Given the description of an element on the screen output the (x, y) to click on. 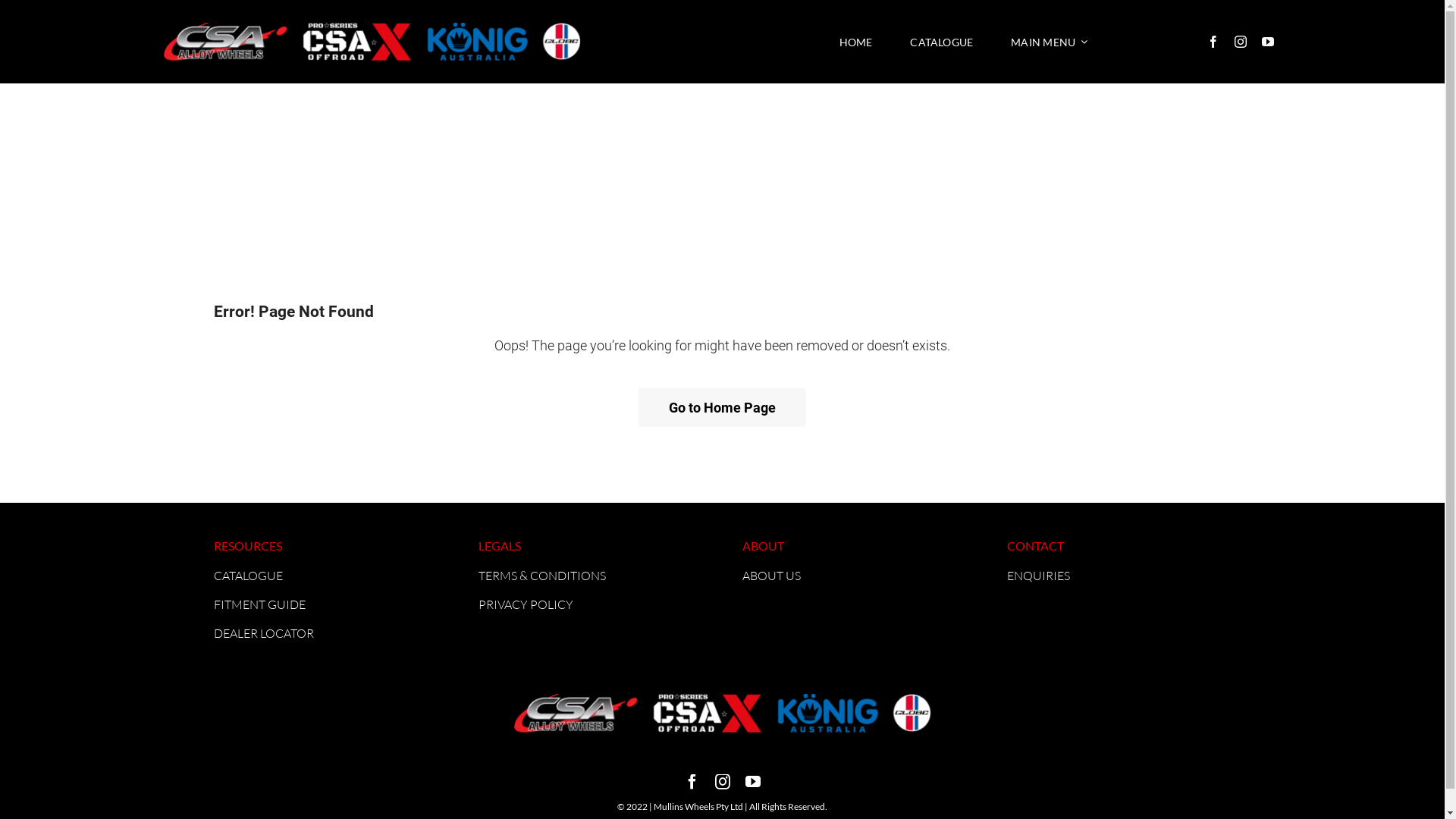
Go to Home Page Element type: text (722, 407)
DEALER LOCATOR Element type: text (263, 632)
CSA-logo-strip Element type: hover (722, 712)
MAIN MENU Element type: text (1048, 42)
TERMS & CONDITIONS Element type: text (541, 575)
CATALOGUE Element type: text (941, 42)
ENQUIRIES Element type: text (1038, 575)
PRIVACY POLICY Element type: text (525, 603)
ABOUT US Element type: text (771, 575)
FITMENT GUIDE Element type: text (259, 603)
CATALOGUE Element type: text (247, 575)
HOME Element type: text (856, 42)
